Given the description of an element on the screen output the (x, y) to click on. 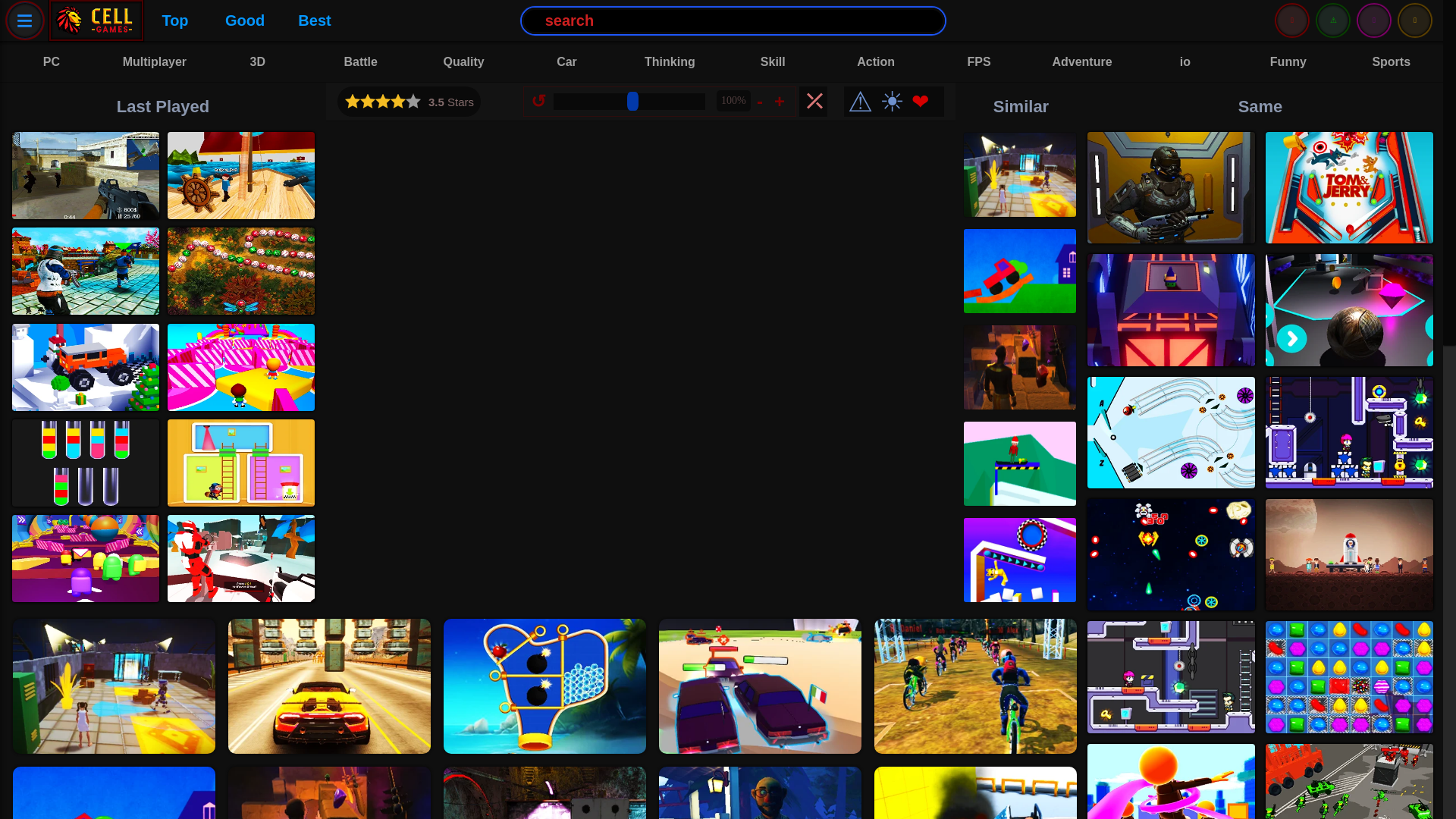
Good (244, 20)
Fullscreen (813, 101)
Best (314, 20)
search (733, 20)
100 (628, 101)
Top (174, 20)
Turn off the lights (890, 101)
reset size (540, 101)
increase size (781, 101)
Report the error, let's fix it. (860, 101)
